Given the description of an element on the screen output the (x, y) to click on. 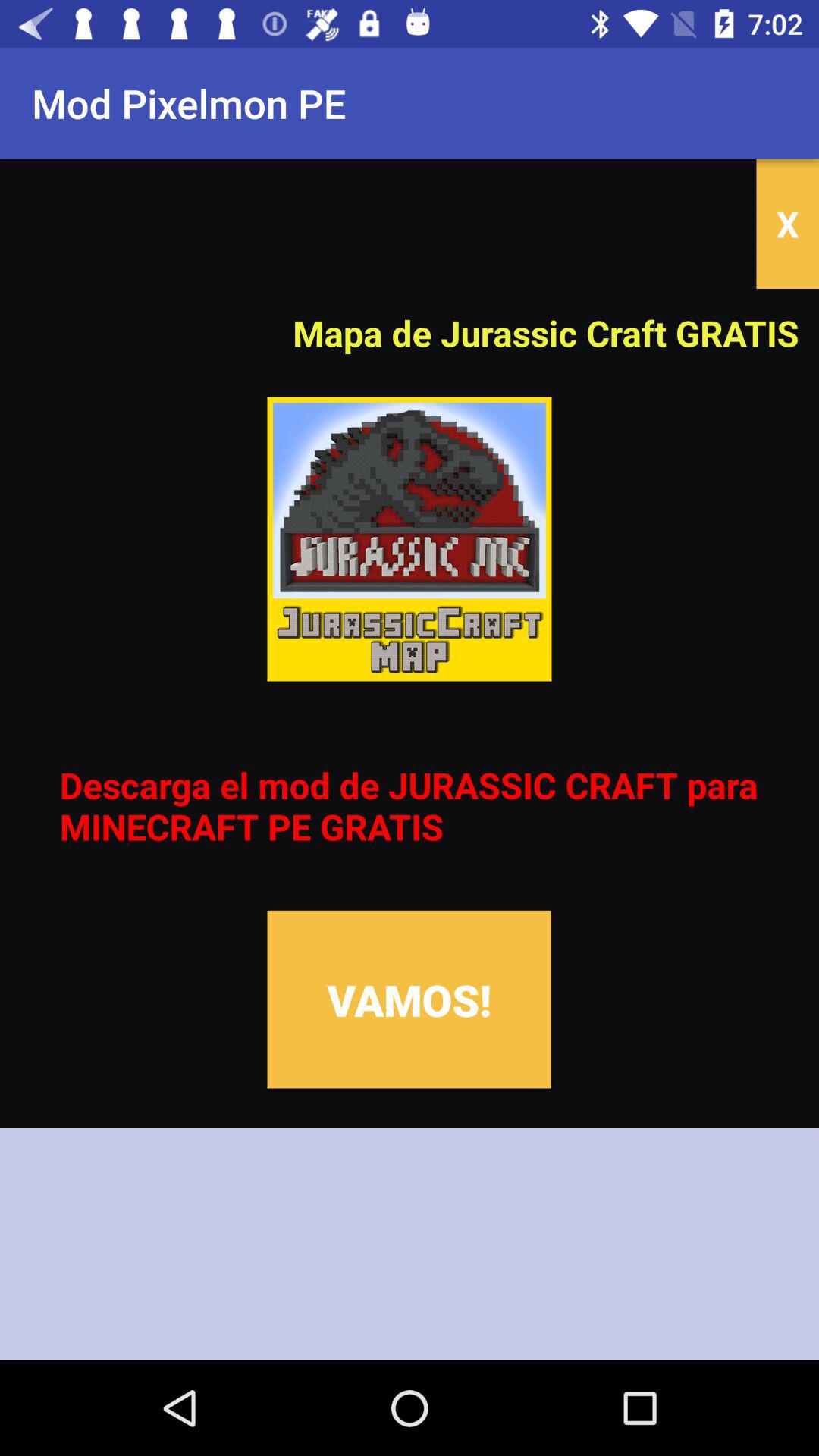
open the x icon (787, 223)
